Given the description of an element on the screen output the (x, y) to click on. 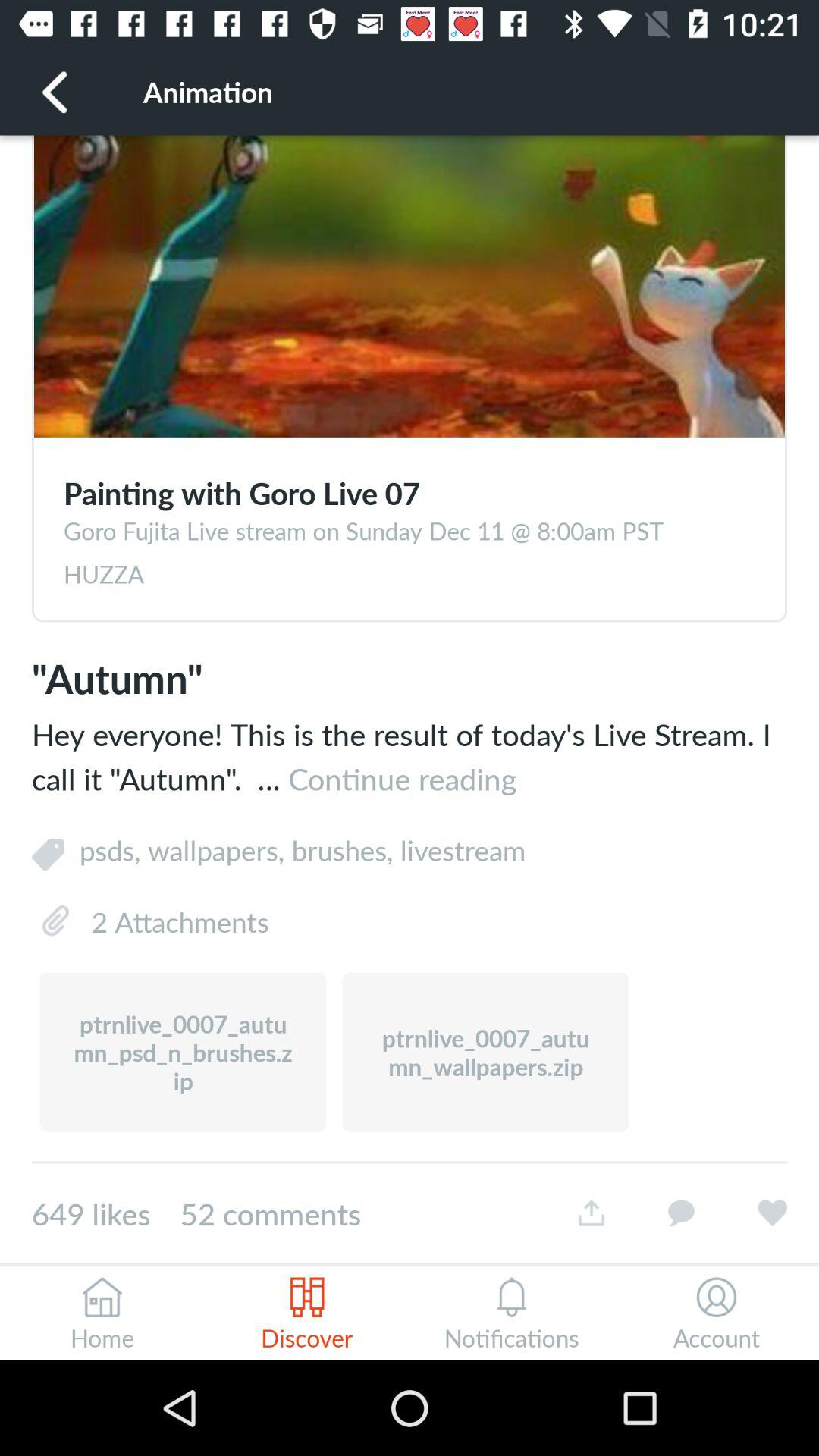
press item above psds wallpapers brushes item (409, 756)
